Given the description of an element on the screen output the (x, y) to click on. 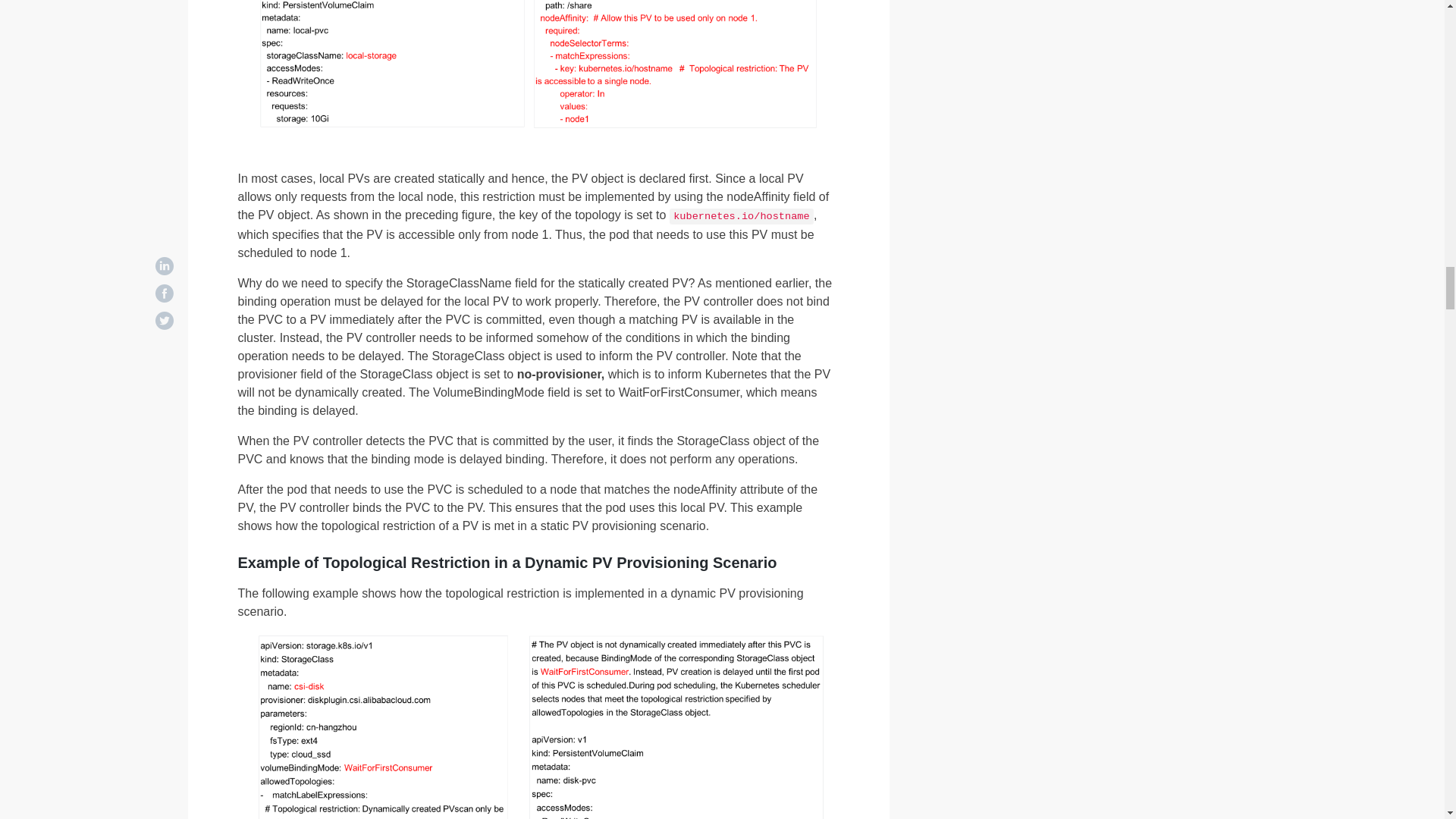
6 (536, 65)
7 (536, 726)
